Given the description of an element on the screen output the (x, y) to click on. 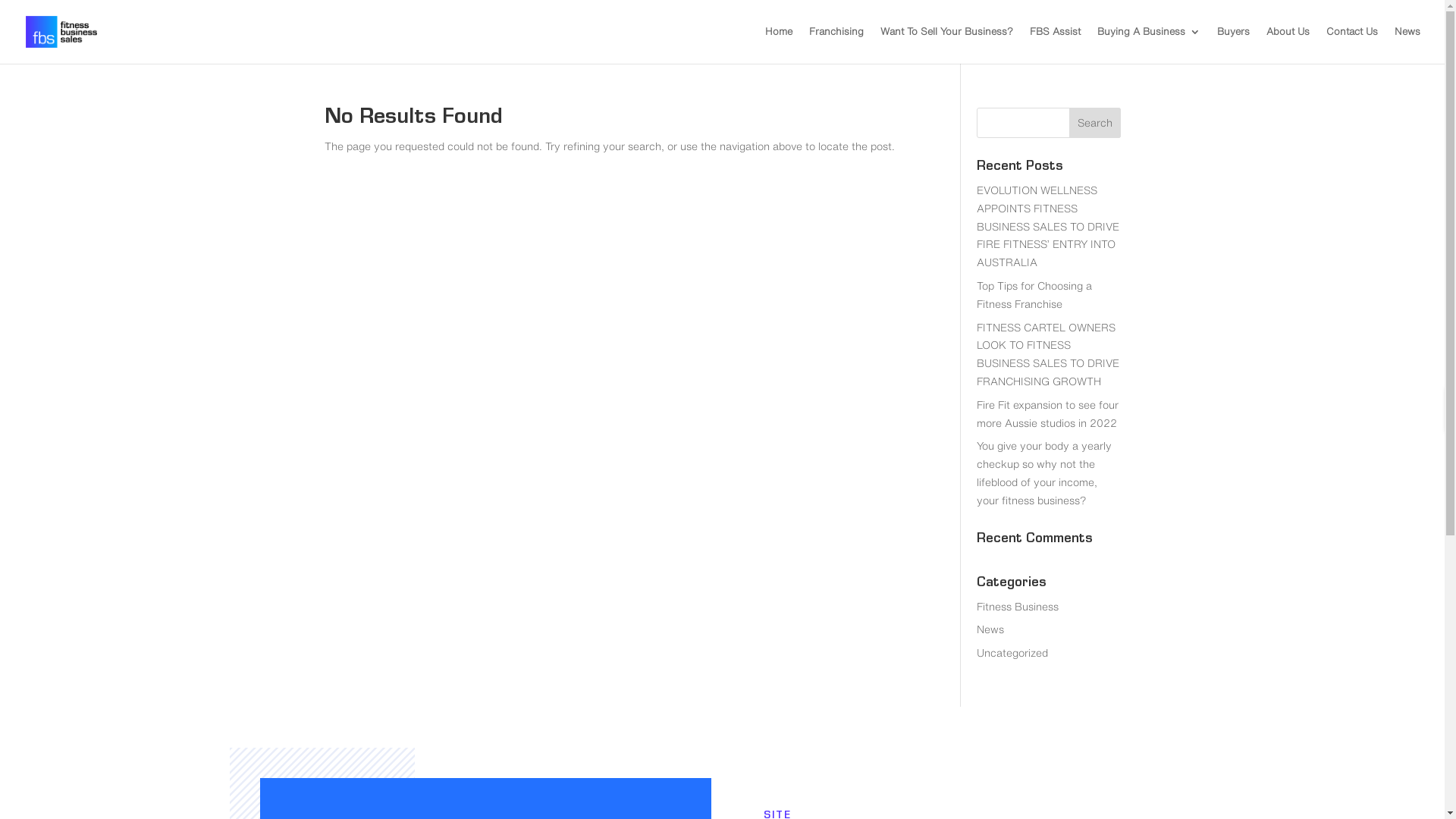
Buying A Business Element type: text (1148, 44)
Home Element type: text (778, 44)
Franchising Element type: text (836, 44)
FBS Assist Element type: text (1054, 44)
Search Element type: text (1094, 122)
News Element type: text (990, 629)
Fitness Business Element type: text (1017, 606)
Uncategorized Element type: text (1012, 652)
Contact Us Element type: text (1351, 44)
About Us Element type: text (1287, 44)
Buyers Element type: text (1233, 44)
Fire Fit expansion to see four more Aussie studios in 2022 Element type: text (1047, 413)
News Element type: text (1407, 44)
Want To Sell Your Business? Element type: text (946, 44)
Top Tips for Choosing a Fitness Franchise Element type: text (1034, 294)
